Given the description of an element on the screen output the (x, y) to click on. 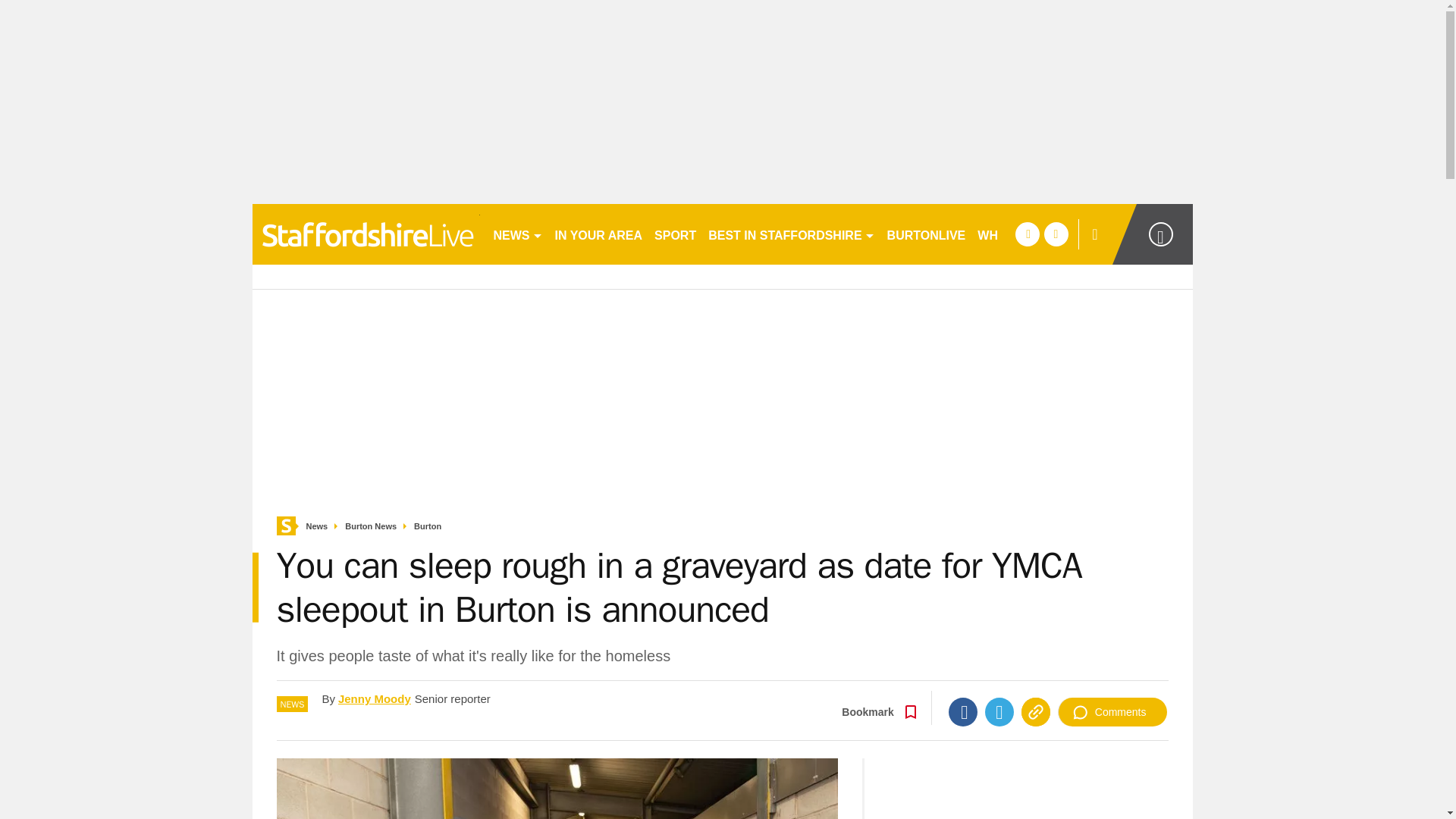
NEWS (517, 233)
Twitter (999, 711)
burtonmail (365, 233)
WHO WE ARE (1017, 233)
Comments (1112, 711)
twitter (1055, 233)
Facebook (962, 711)
IN YOUR AREA (598, 233)
BEST IN STAFFORDSHIRE (790, 233)
facebook (1026, 233)
